Given the description of an element on the screen output the (x, y) to click on. 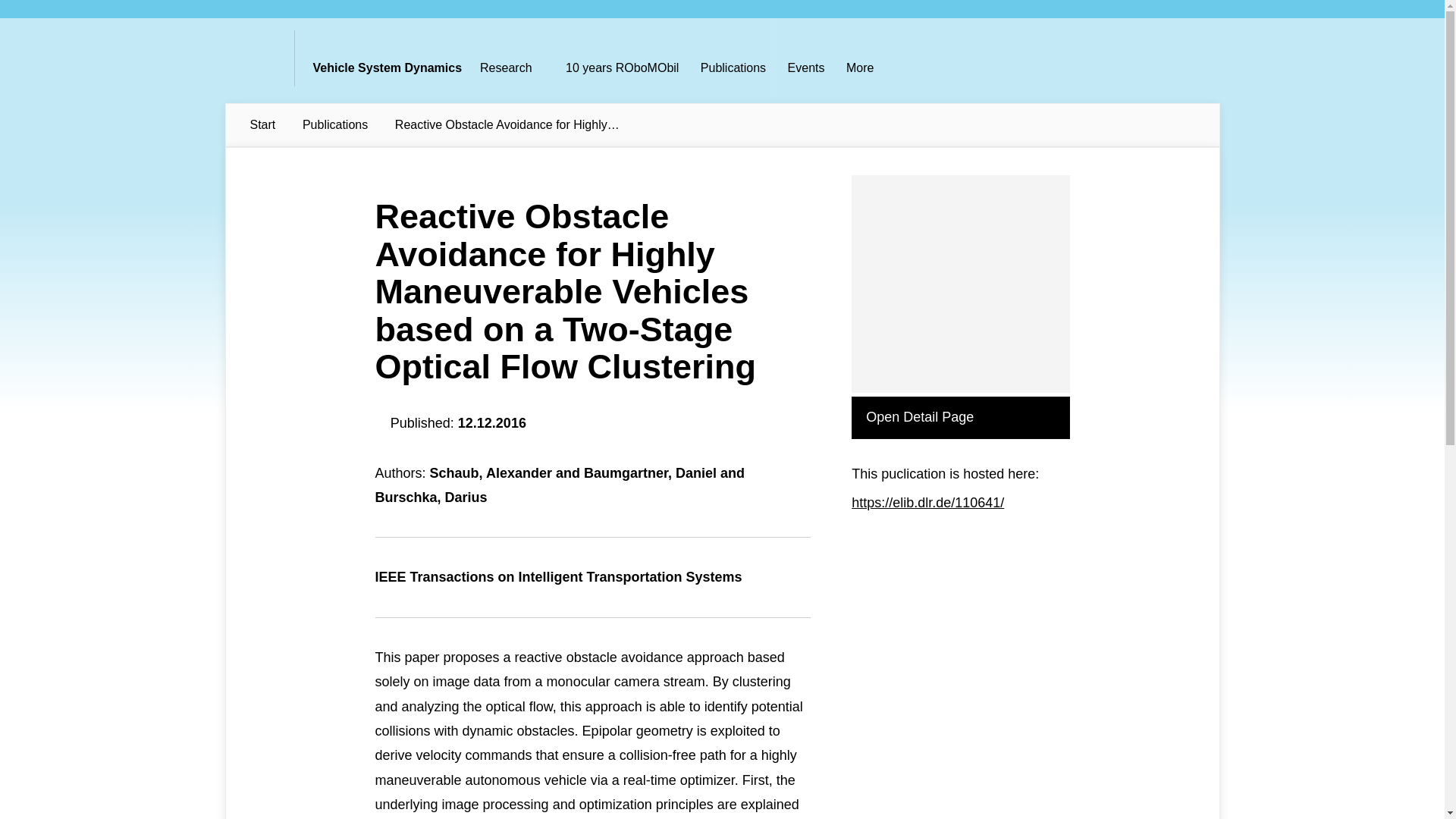
Research (505, 67)
Publications (732, 67)
Vehicle System Dynamics (387, 67)
Events (806, 67)
Publications (343, 124)
Start (271, 124)
10 years ROboMObil (622, 67)
Open Detail Page (959, 417)
